Given the description of an element on the screen output the (x, y) to click on. 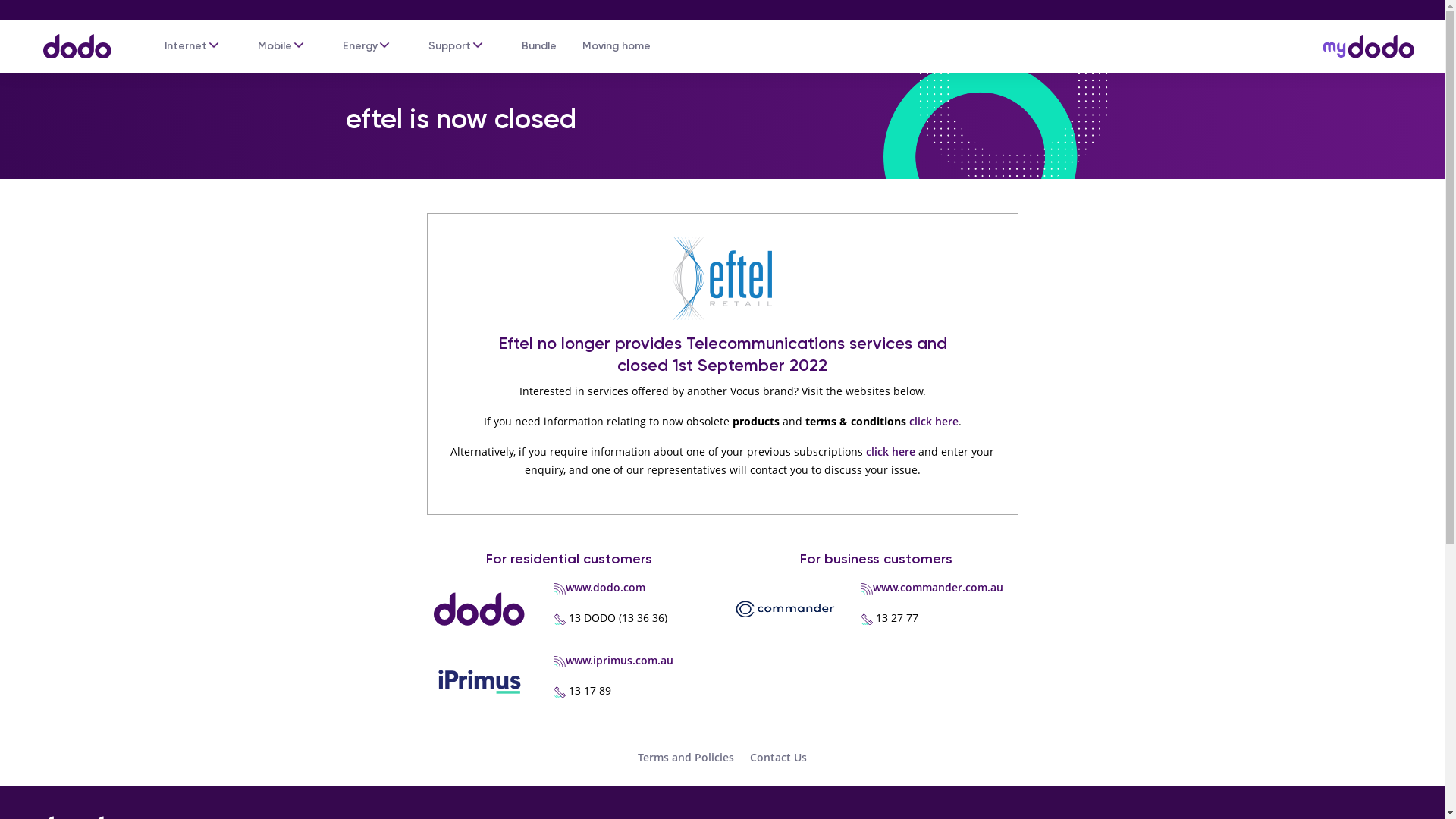
www.dodo.com Element type: text (605, 587)
click here Element type: text (890, 451)
Mobile Element type: text (274, 45)
Home Element type: hover (69, 38)
Energy Element type: text (359, 45)
Internet Element type: text (185, 45)
Bundle Element type: text (538, 45)
Contact Us Element type: text (777, 756)
click here Element type: text (932, 421)
Moving home Element type: text (616, 45)
Terms and Policies Element type: text (685, 756)
www.commander.com.au Element type: text (937, 587)
Support Element type: text (449, 45)
Skip to main content Element type: text (721, 1)
www.iprimus.com.au Element type: text (619, 659)
